Given the description of an element on the screen output the (x, y) to click on. 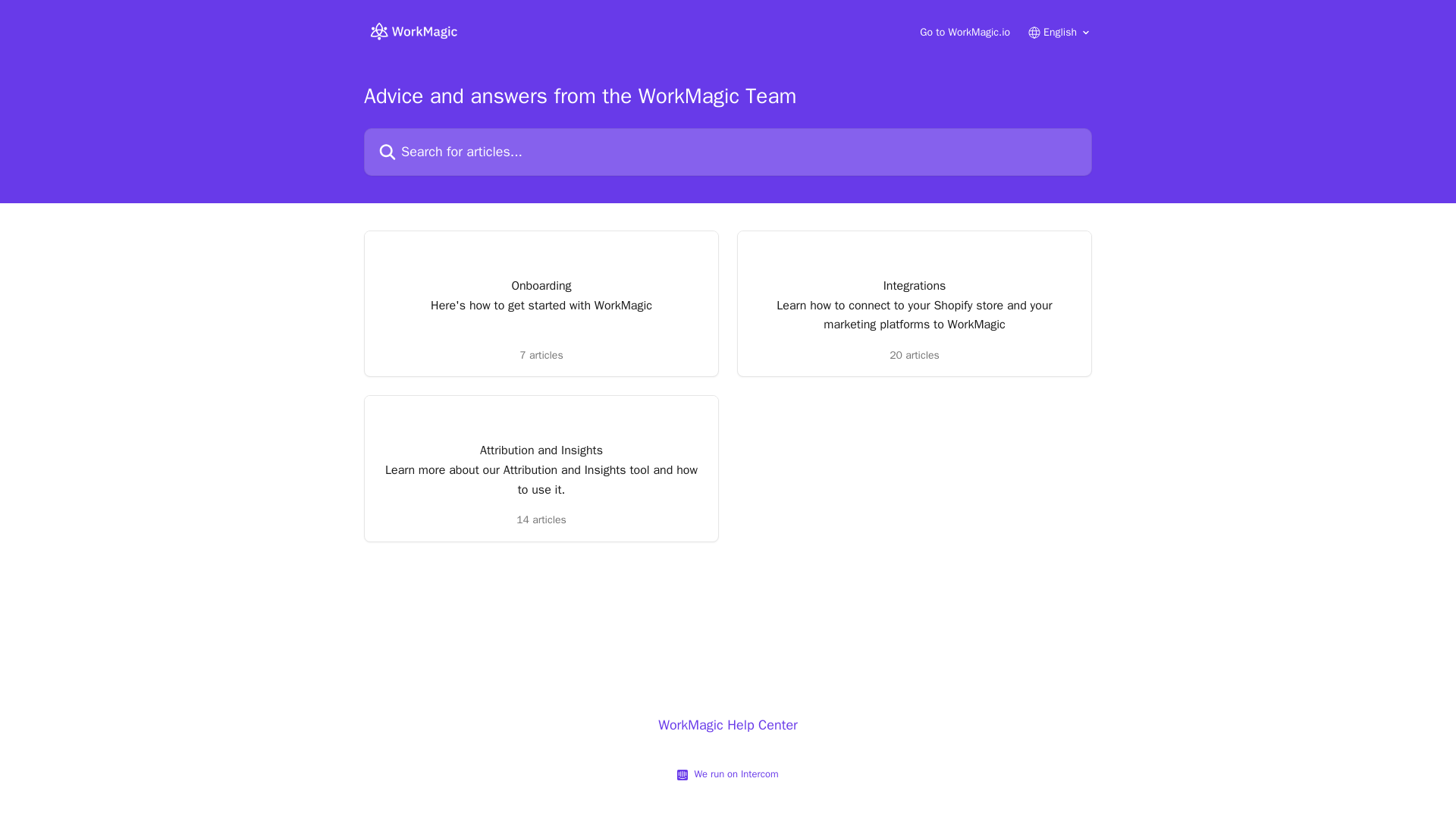
Go to WorkMagic.io (965, 32)
WorkMagic Help Center (727, 724)
We run on Intercom (732, 774)
